Given the description of an element on the screen output the (x, y) to click on. 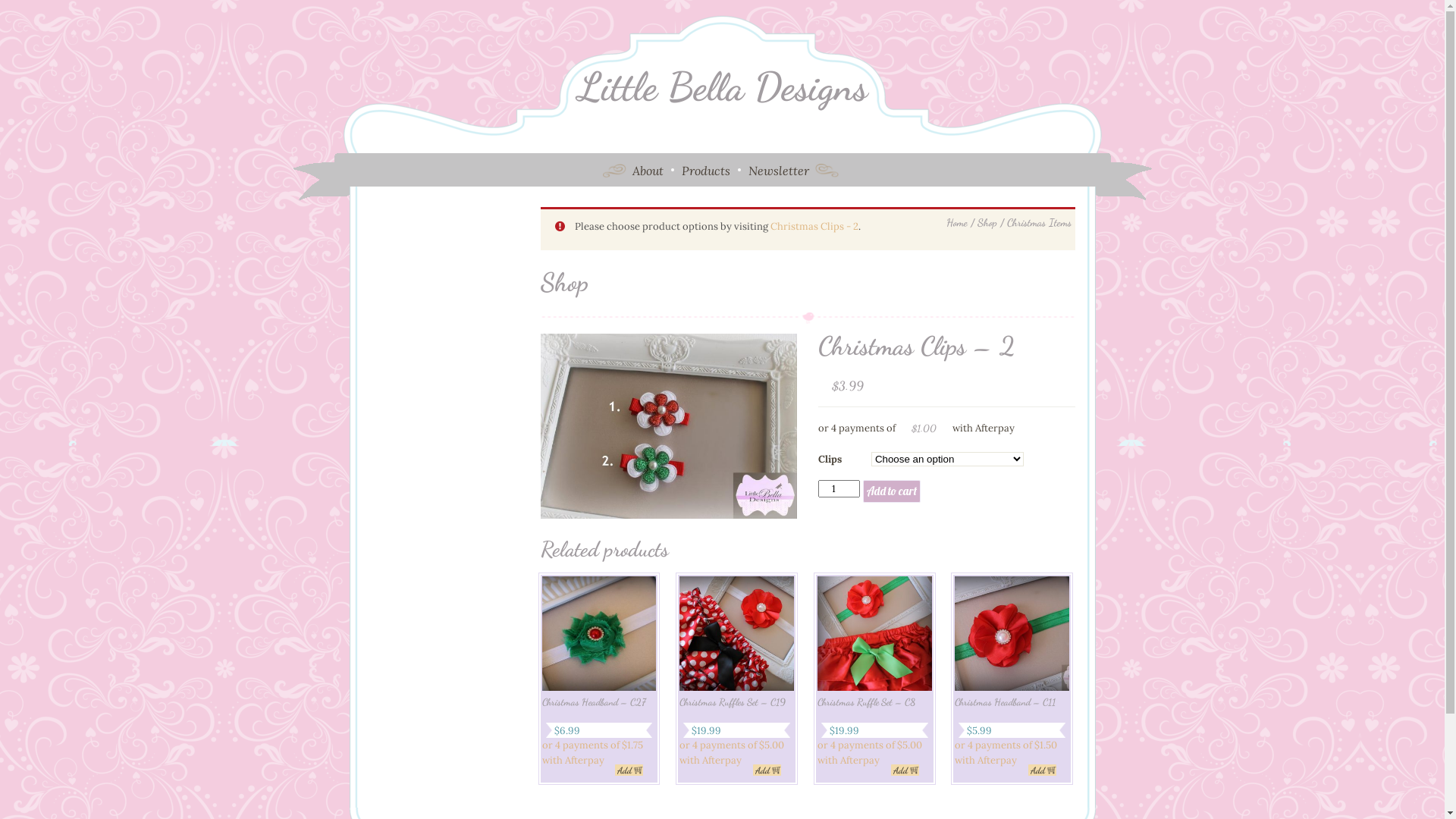
Newsletter Element type: text (778, 169)
Christmas Clips - 2 Element type: text (814, 225)
Qty Element type: hover (838, 488)
Home Element type: text (956, 222)
Shop Element type: text (986, 222)
Add Element type: text (766, 769)
Little Bella Designs Element type: text (722, 94)
Christmas Items Element type: text (1039, 222)
Products Element type: text (705, 169)
Add to cart Element type: text (891, 491)
Add Element type: text (628, 769)
Add Element type: text (904, 769)
Add Element type: text (1042, 769)
Christmas Clips - 2 Element type: hover (667, 425)
About Element type: text (647, 169)
